Given the description of an element on the screen output the (x, y) to click on. 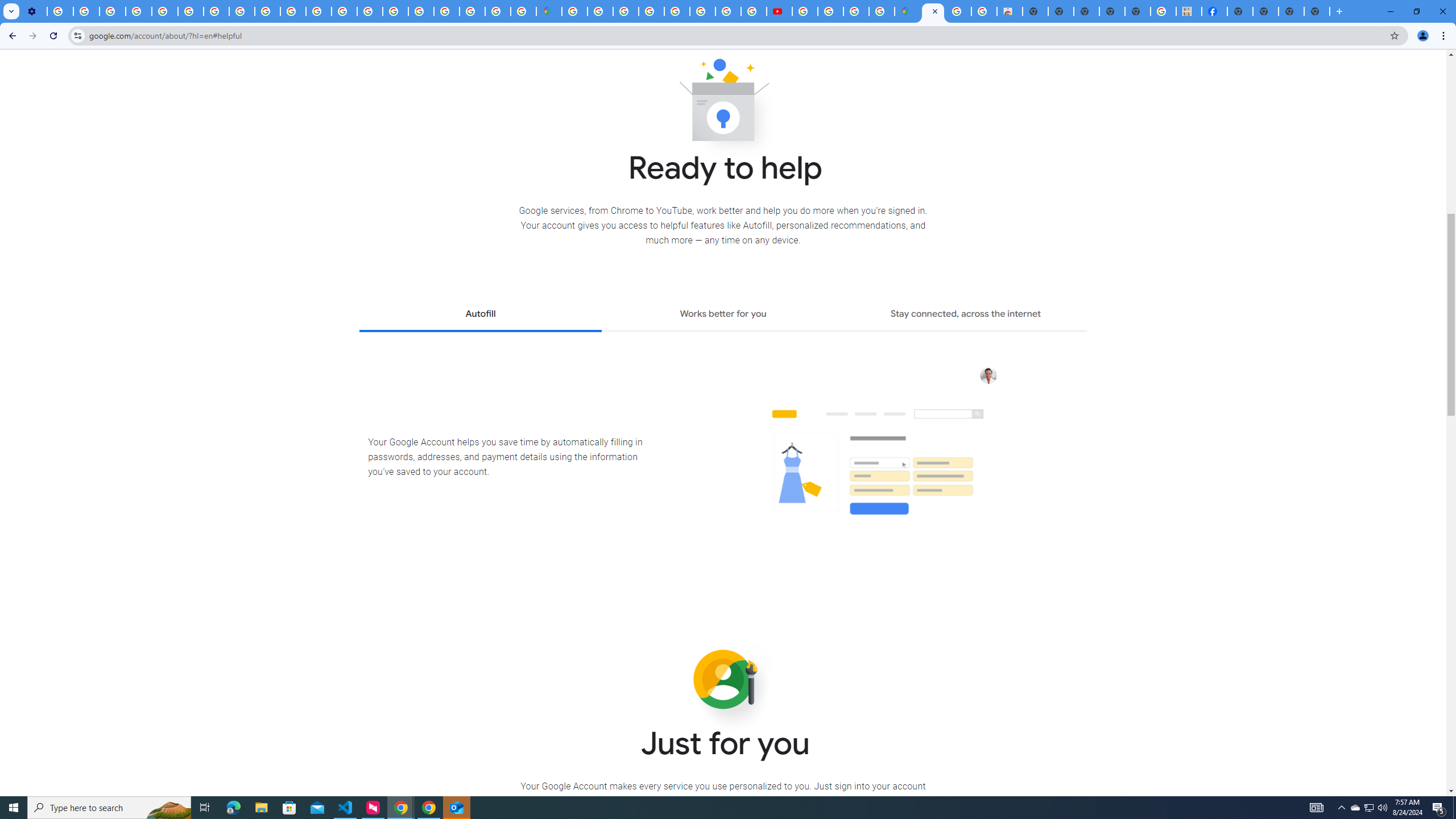
How Chrome protects your passwords - Google Chrome Help (804, 11)
Privacy Help Center - Policies Help (702, 11)
Google Maps (548, 11)
Privacy Checkup (293, 11)
Ready to help (722, 103)
Sign in - Google Accounts (574, 11)
YouTube (190, 11)
